Given the description of an element on the screen output the (x, y) to click on. 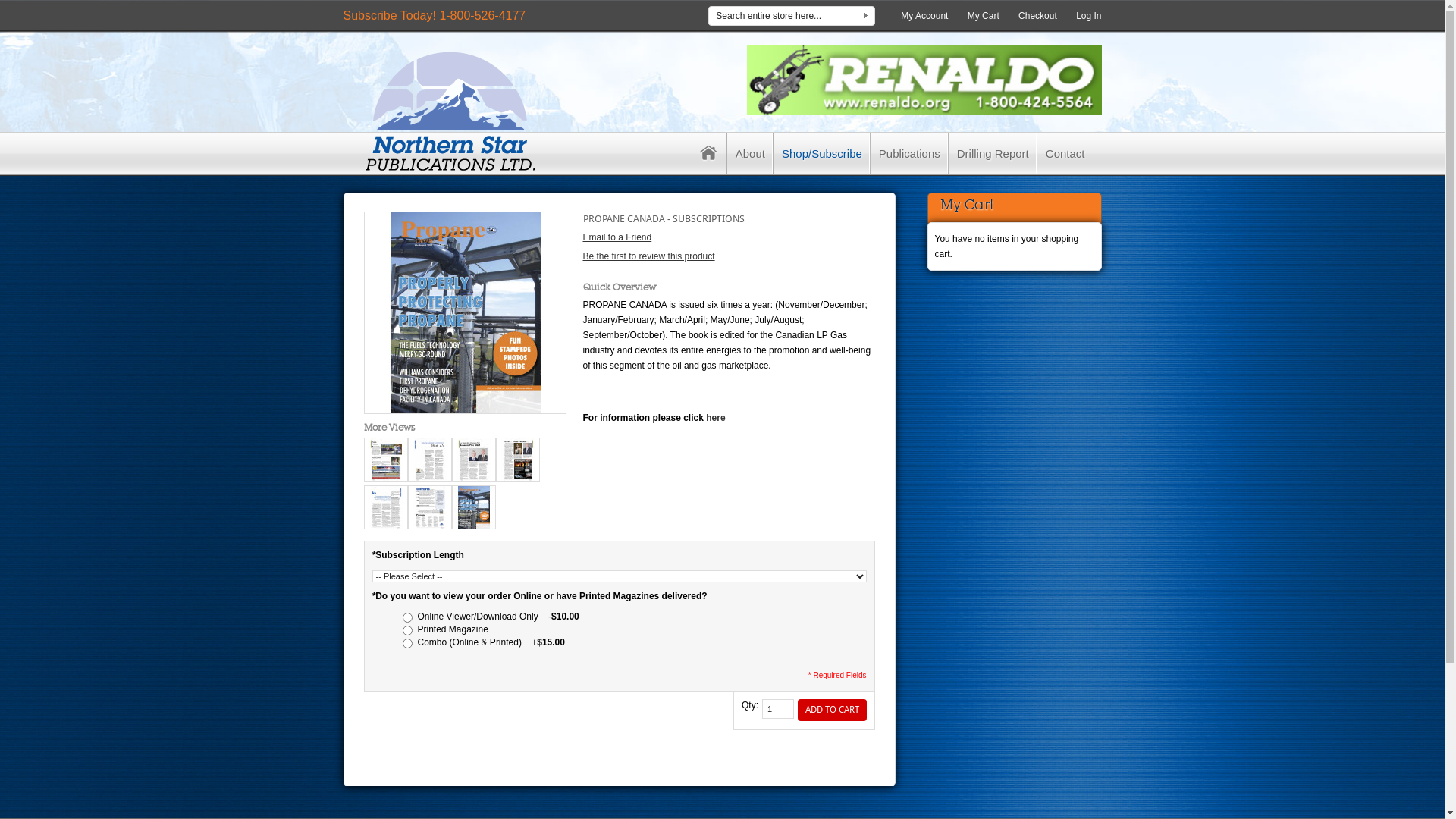
Drilling Report Element type: text (993, 153)
Log In Element type: text (1088, 15)
181 Element type: text (406, 630)
About Element type: text (750, 153)
Checkout Element type: text (1037, 15)
182 Element type: text (406, 643)
here Element type: text (715, 417)
Contact Element type: text (1065, 153)
Publications Element type: text (909, 153)
180 Element type: text (406, 617)
SEARCH Element type: text (865, 17)
ADD TO CART Element type: text (831, 710)
Propane Canada - Subscriptions Element type: hover (464, 312)
Qty Element type: hover (777, 708)
Shop/Subscribe Element type: text (821, 153)
My Account Element type: text (923, 15)
Email to a Friend Element type: text (616, 237)
Be the first to review this product Element type: text (648, 256)
  Element type: text (708, 153)
Home Element type: hover (708, 153)
My Cart Element type: text (983, 15)
